Given the description of an element on the screen output the (x, y) to click on. 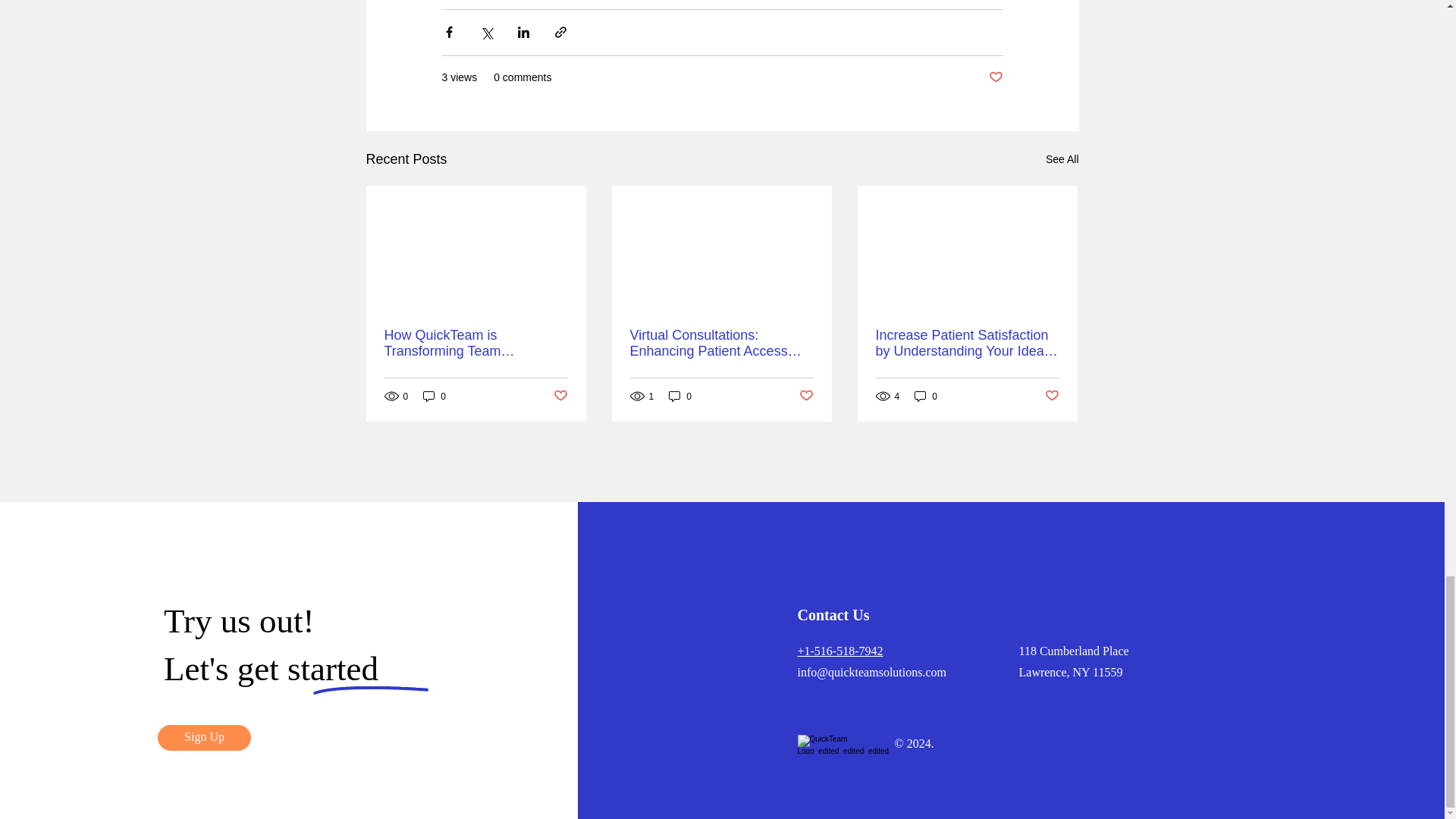
Post not marked as liked (806, 396)
Post not marked as liked (995, 76)
Post not marked as liked (560, 396)
See All (1061, 158)
QuickTeam Logo.png (844, 743)
Post not marked as liked (1052, 396)
Sign Up (203, 737)
